Given the description of an element on the screen output the (x, y) to click on. 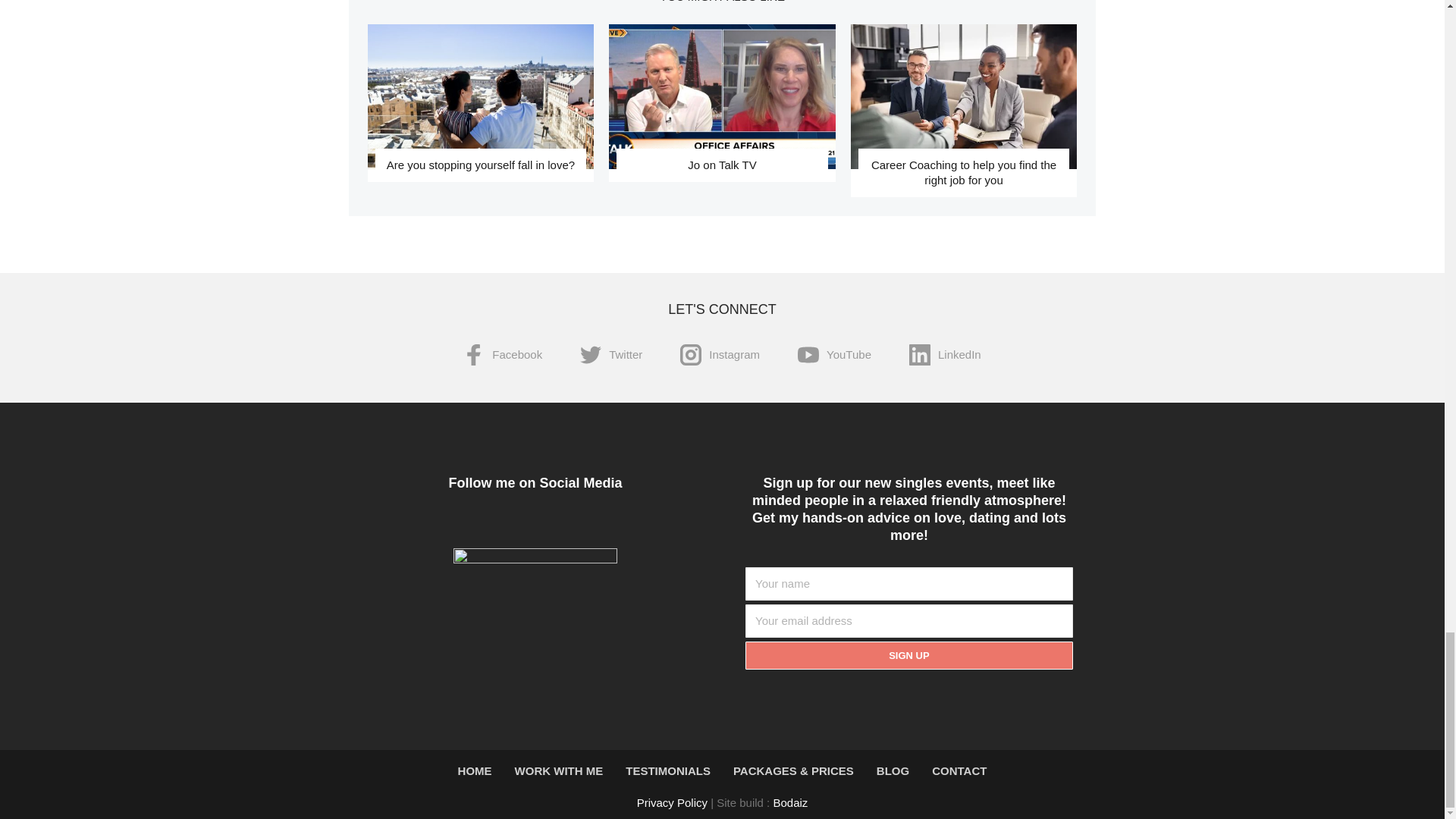
Career Coaching to help you find the right job for you (963, 96)
Instagram (719, 355)
Are you stopping yourself fall in love? (481, 164)
Facebook (480, 526)
Sign up (908, 655)
Twitter (610, 355)
LinkedIn (944, 355)
Facebook (502, 355)
Jo on Talk TV (721, 164)
Twitter (507, 526)
